Given the description of an element on the screen output the (x, y) to click on. 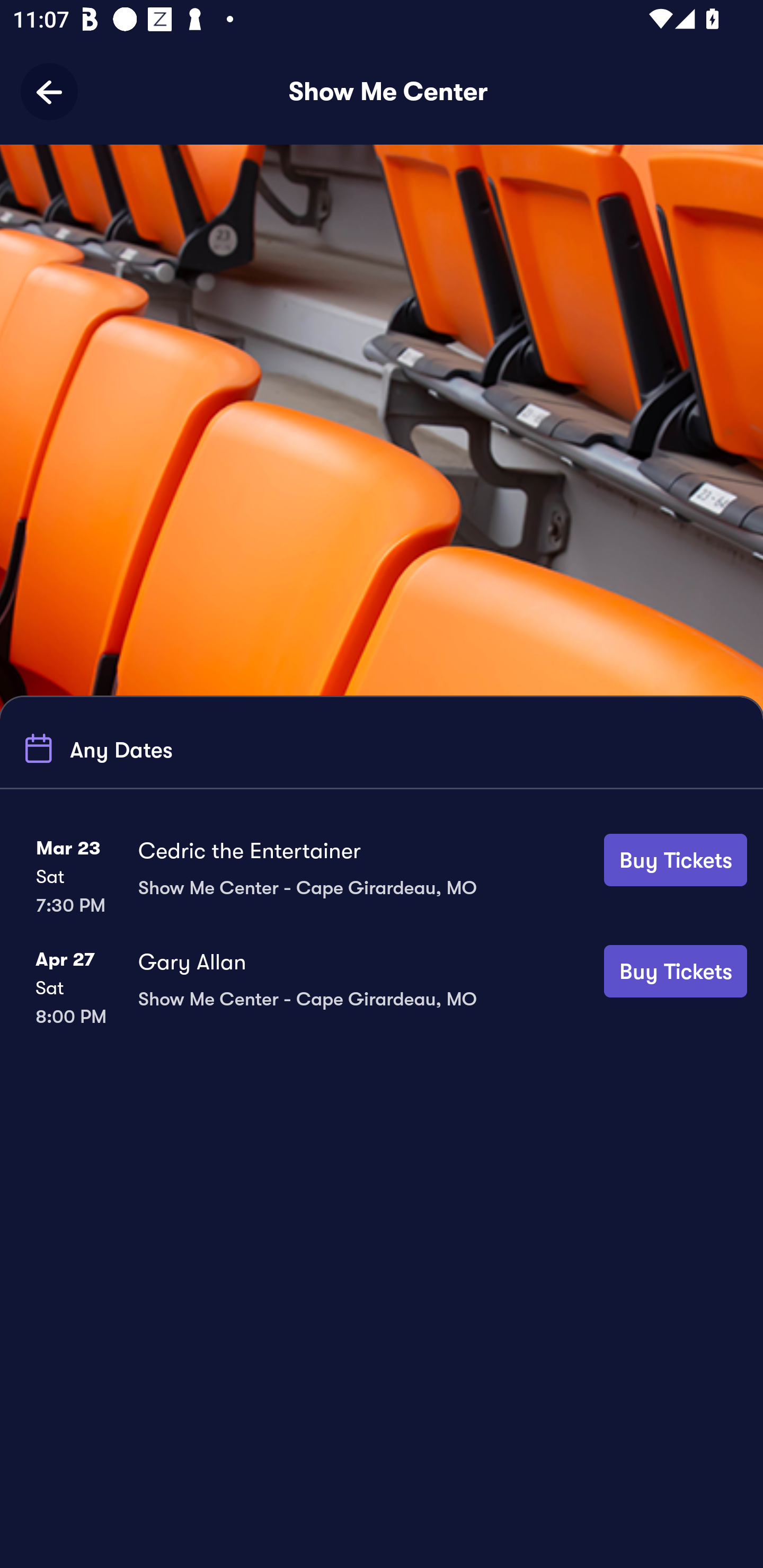
Any Dates (95, 749)
